Given the description of an element on the screen output the (x, y) to click on. 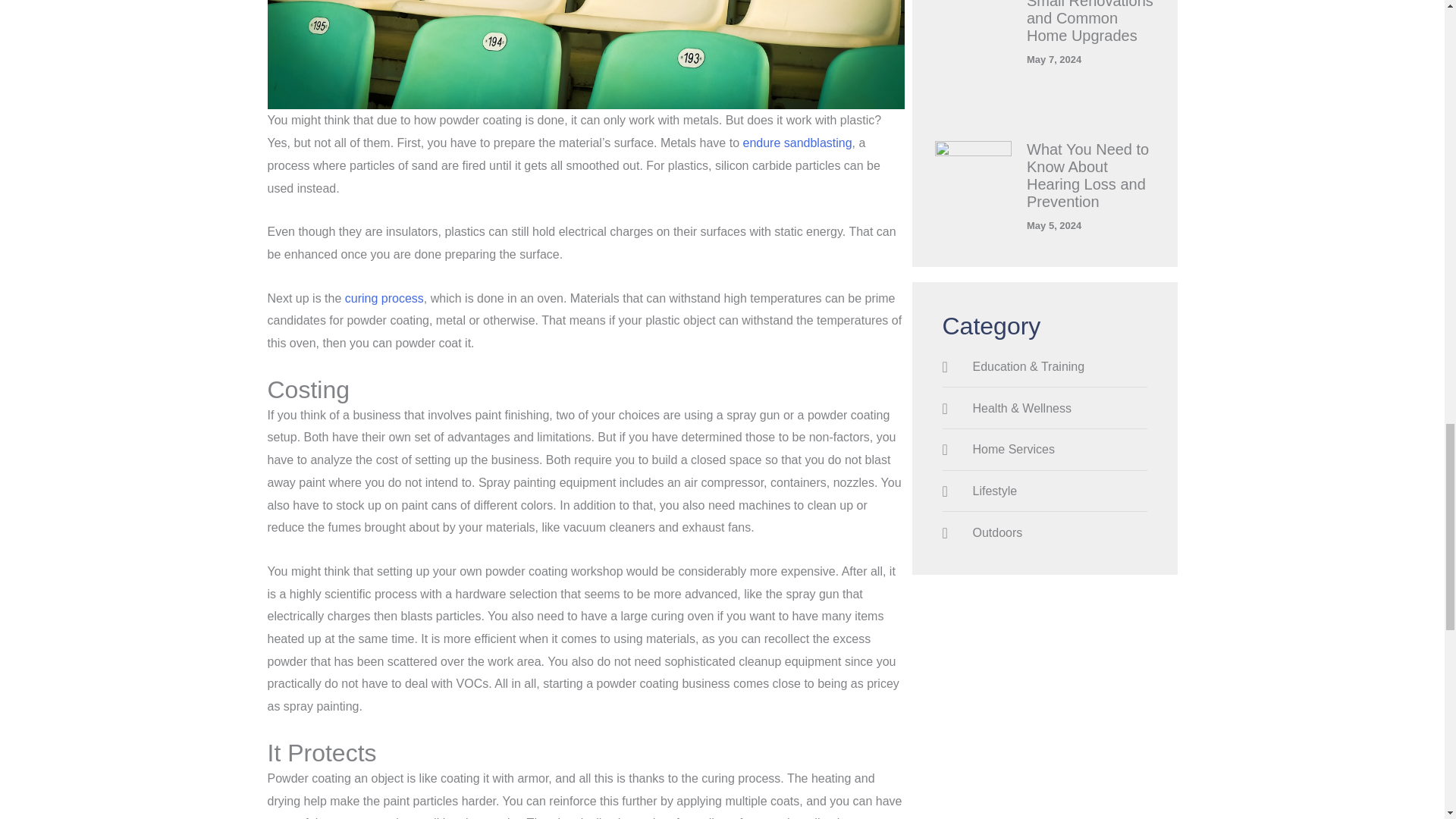
What You Need to Know About Hearing Loss and Prevention (1087, 174)
endure sandblasting (796, 142)
curing process (384, 297)
How to Budget for Small Renovations and Common Home Upgrades (1089, 22)
